Given the description of an element on the screen output the (x, y) to click on. 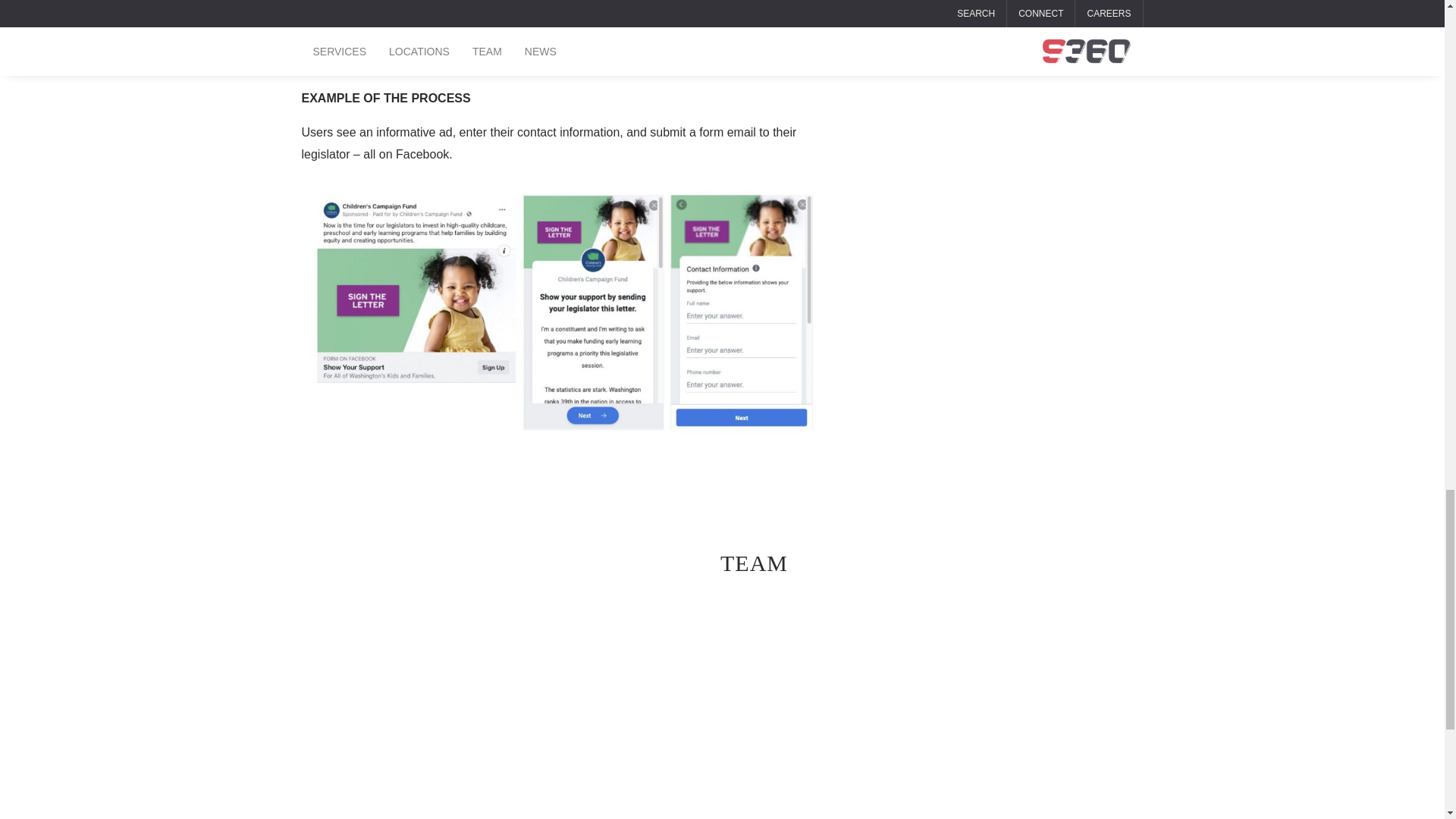
Page 3 (449, 750)
